Given the description of an element on the screen output the (x, y) to click on. 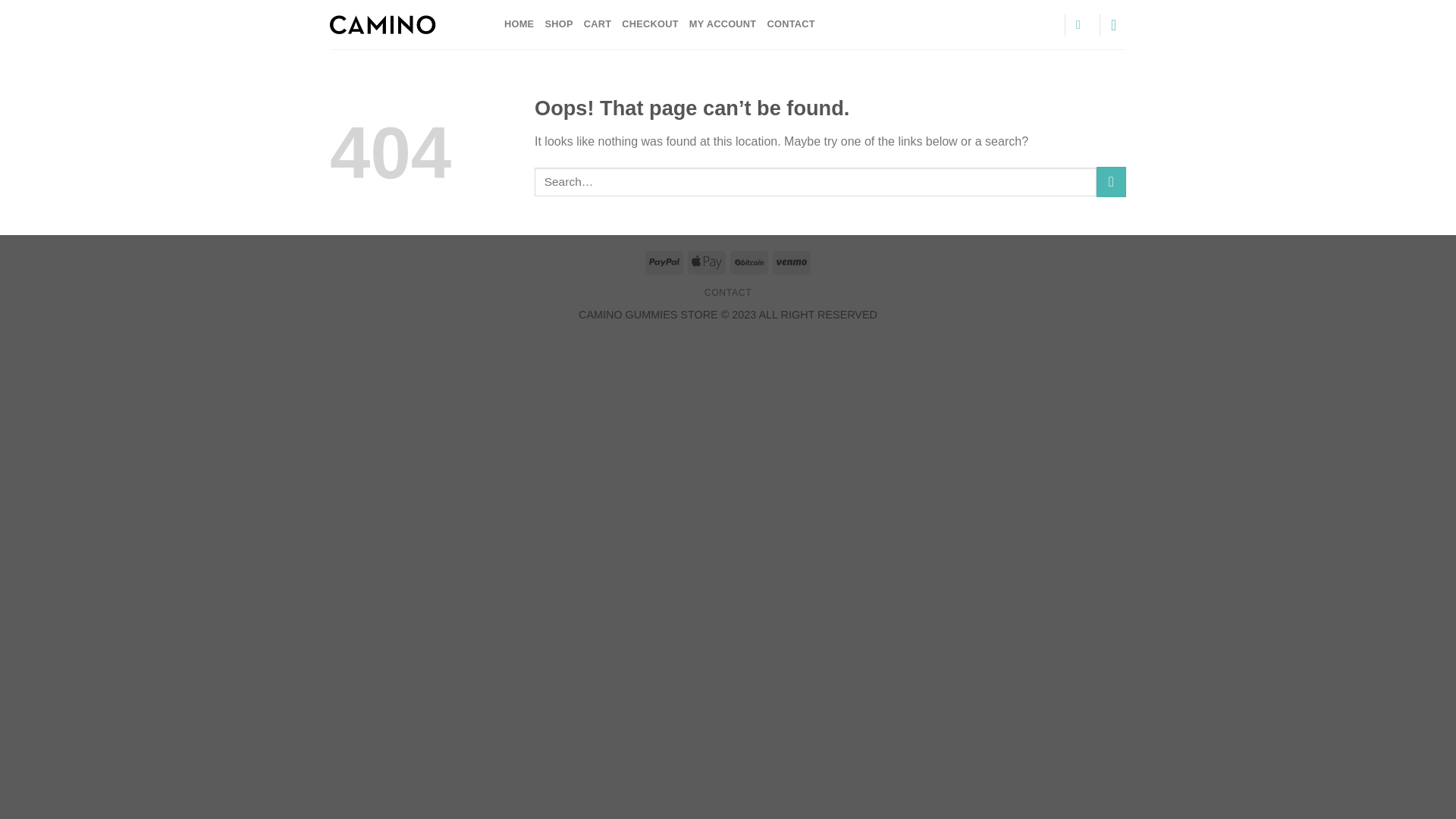
HOME (518, 24)
CONTACT (728, 292)
CART (597, 24)
SHOP (558, 24)
CONTACT (790, 24)
MY ACCOUNT (722, 24)
Camino Gummies - Camino Gummies For Sale (405, 24)
CHECKOUT (649, 24)
